Given the description of an element on the screen output the (x, y) to click on. 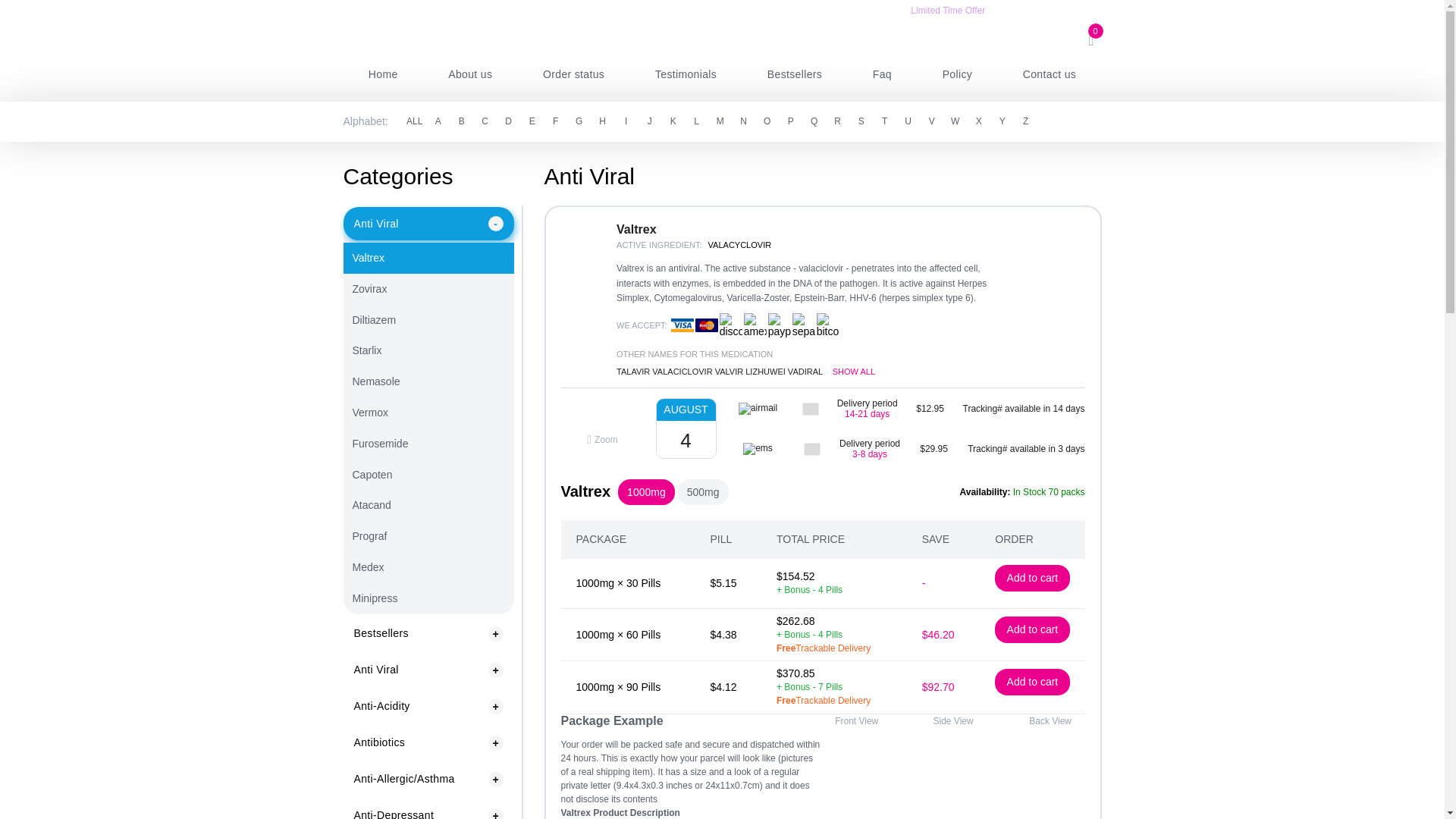
home (382, 74)
T (884, 120)
faq (882, 74)
S (861, 120)
B (461, 120)
I (625, 120)
A (437, 120)
bestsellers (794, 74)
R (837, 120)
H (602, 120)
policy (957, 74)
about us (470, 74)
K (673, 120)
testimonials (686, 74)
E (532, 120)
